Given the description of an element on the screen output the (x, y) to click on. 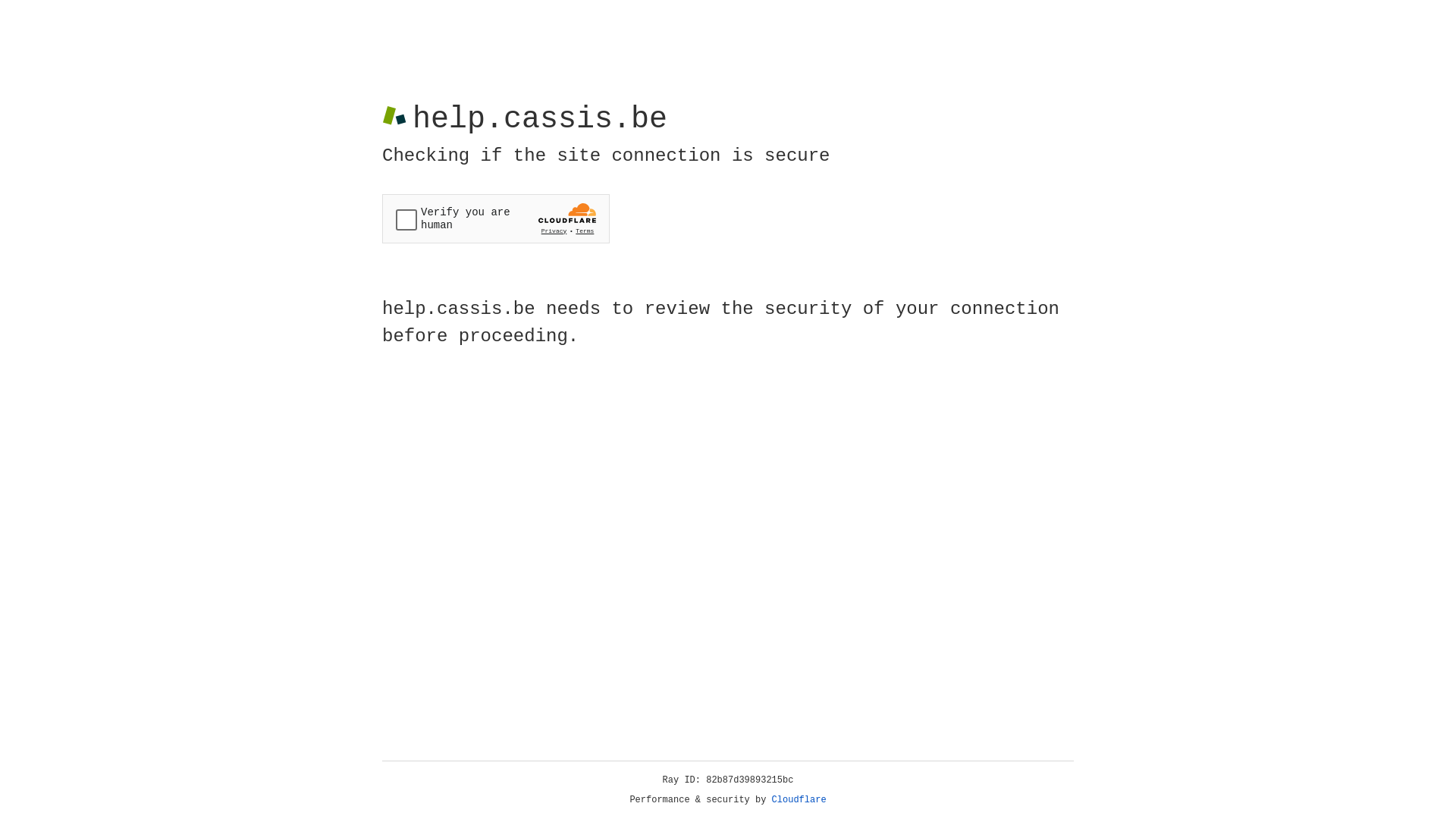
Widget containing a Cloudflare security challenge Element type: hover (495, 218)
Cloudflare Element type: text (798, 799)
